Given the description of an element on the screen output the (x, y) to click on. 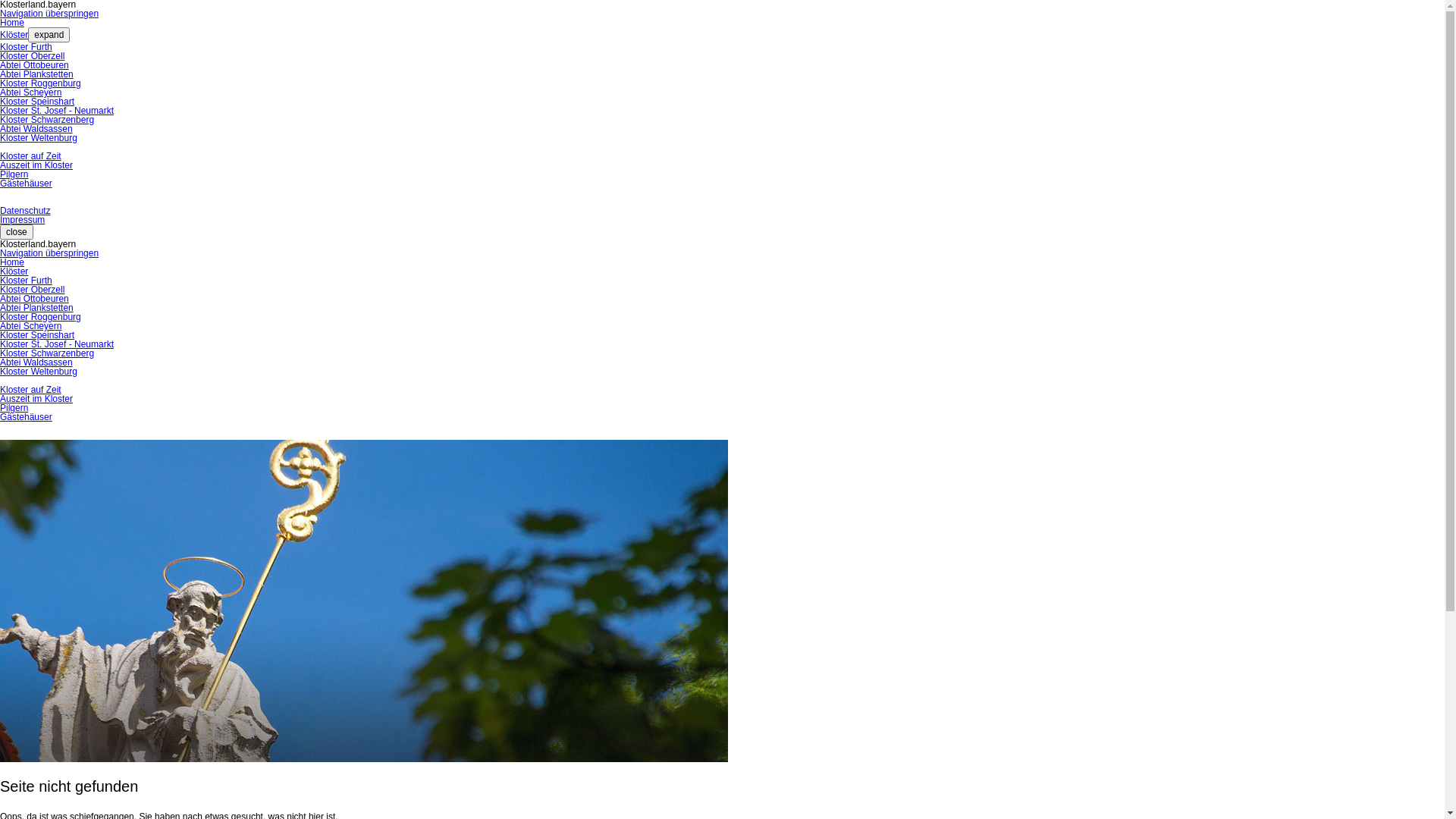
Home Element type: text (12, 262)
Abtei Plankstetten Element type: text (36, 74)
Kloster Weltenburg Element type: text (38, 137)
Pilgern Element type: text (14, 174)
Abtei Scheyern Element type: text (30, 325)
Auszeit im Kloster Element type: text (36, 398)
Kloster auf Zeit Element type: text (30, 389)
Kloster St. Josef - Neumarkt Element type: text (56, 110)
Kloster Oberzell Element type: text (32, 289)
Kloster auf Zeit Element type: text (30, 155)
expand Element type: text (48, 34)
Abtei Plankstetten Element type: text (36, 307)
Auszeit im Kloster Element type: text (36, 165)
Pilgern Element type: text (14, 407)
Kloster Furth Element type: text (26, 280)
Kloster Schwarzenberg Element type: text (47, 119)
Kloster Speinshart Element type: text (37, 101)
Kloster Weltenburg Element type: text (38, 371)
Datenschutz Element type: text (25, 210)
Abtei Ottobeuren Element type: text (34, 298)
Kloster Speinshart Element type: text (37, 334)
Kloster Roggenburg Element type: text (40, 83)
  Element type: text (1, 434)
Kloster Oberzell Element type: text (32, 55)
  Element type: text (1, 201)
Abtei Waldsassen Element type: text (36, 362)
close Element type: text (16, 231)
Impressum Element type: text (22, 219)
Kloster Roggenburg Element type: text (40, 316)
Abtei Ottobeuren Element type: text (34, 64)
Kloster Furth Element type: text (26, 46)
Abtei Scheyern Element type: text (30, 92)
Kloster St. Josef - Neumarkt Element type: text (56, 343)
Kloster Schwarzenberg Element type: text (47, 353)
Abtei Waldsassen Element type: text (36, 128)
Home Element type: text (12, 22)
